Given the description of an element on the screen output the (x, y) to click on. 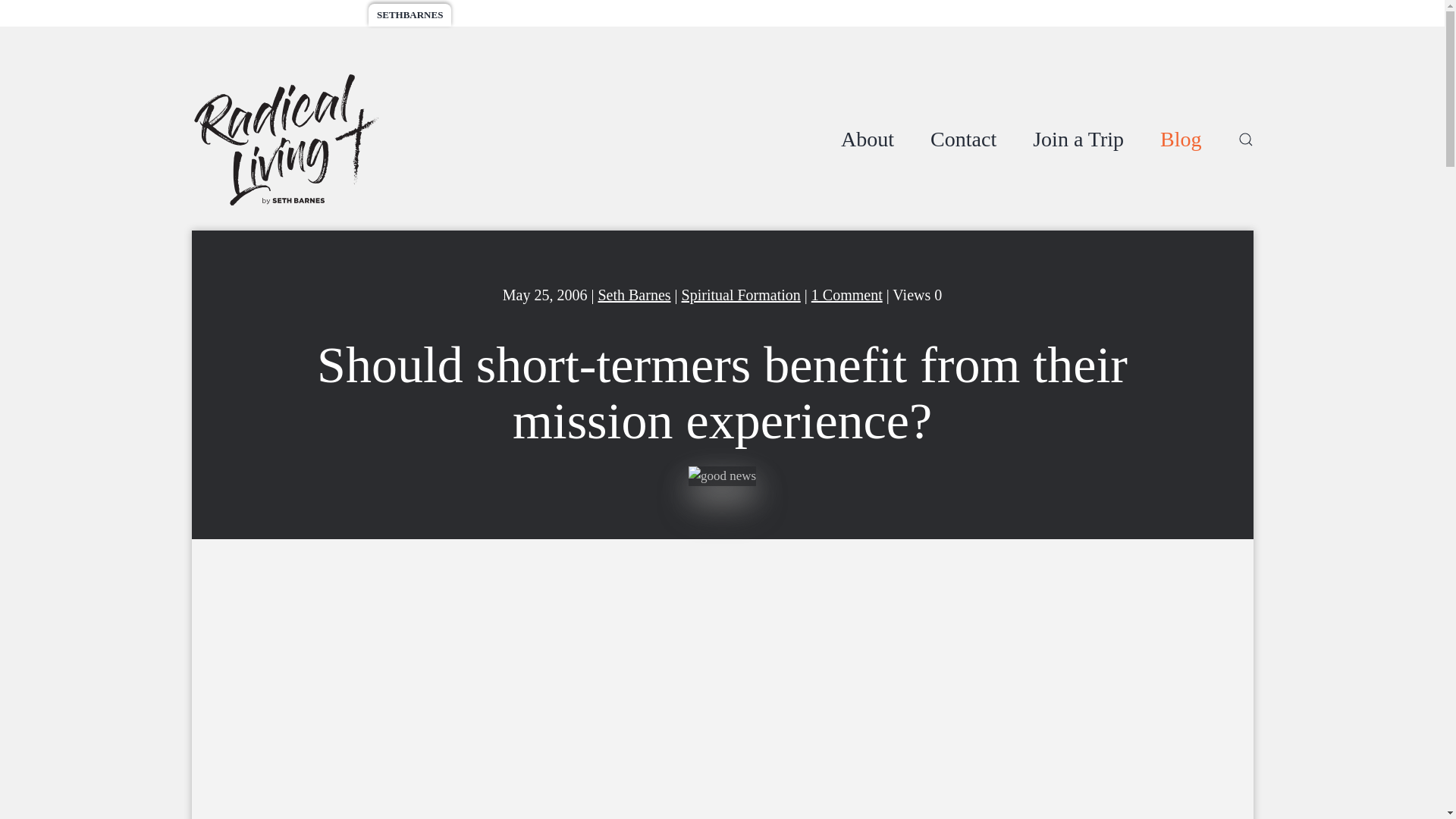
ADVENTURES (235, 15)
Contact (962, 139)
Seth Barnes (632, 294)
Join a Trip (1078, 139)
Spiritual Formation (740, 294)
WORLDRACE (322, 15)
GIVING (573, 15)
SPONSORSHIP (498, 15)
